Given the description of an element on the screen output the (x, y) to click on. 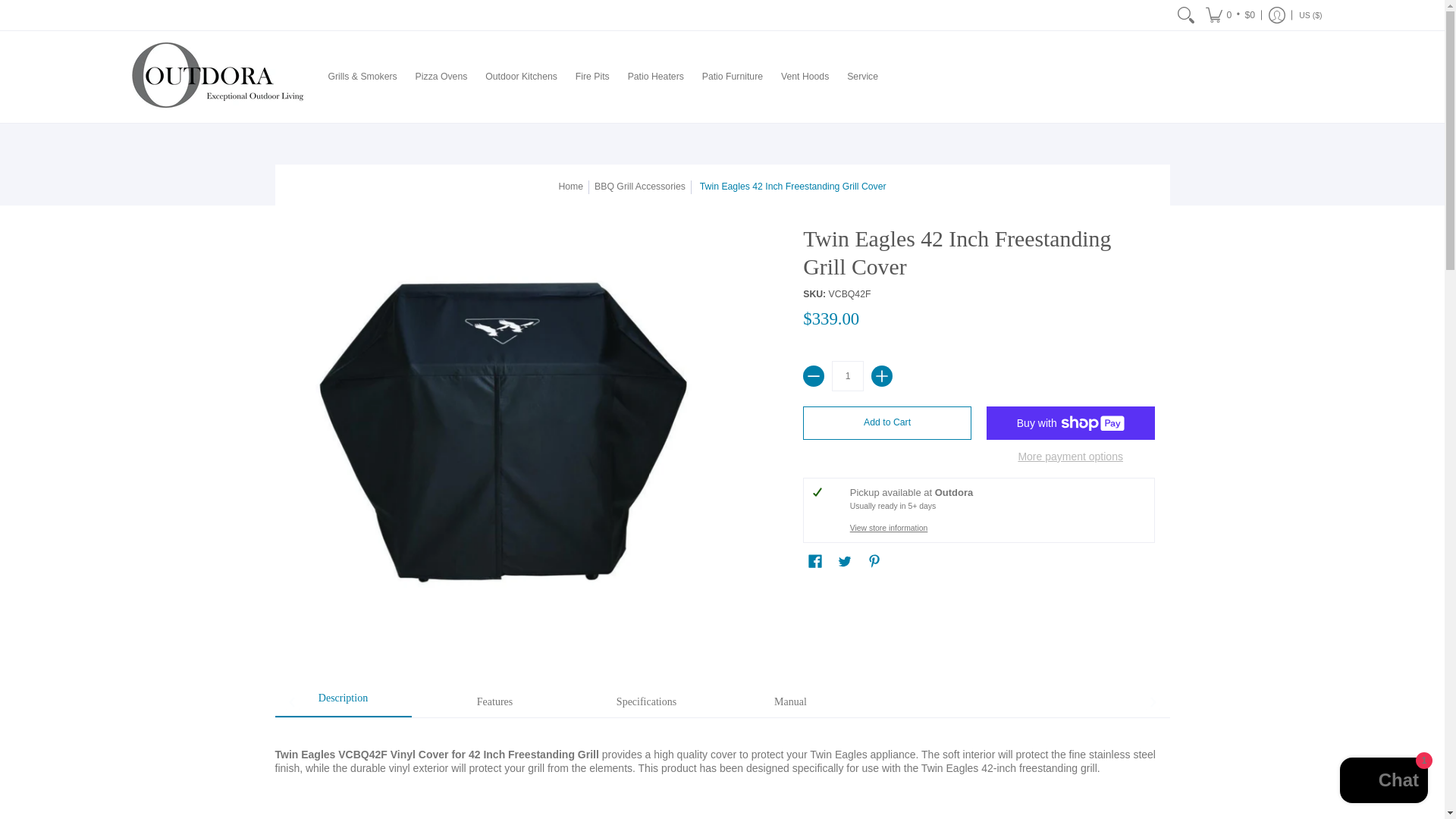
Outdora (213, 76)
Cart (1230, 15)
Update store currency (1309, 15)
Outdoor Kitchens (520, 76)
1 (847, 376)
Log in (1277, 15)
